Given the description of an element on the screen output the (x, y) to click on. 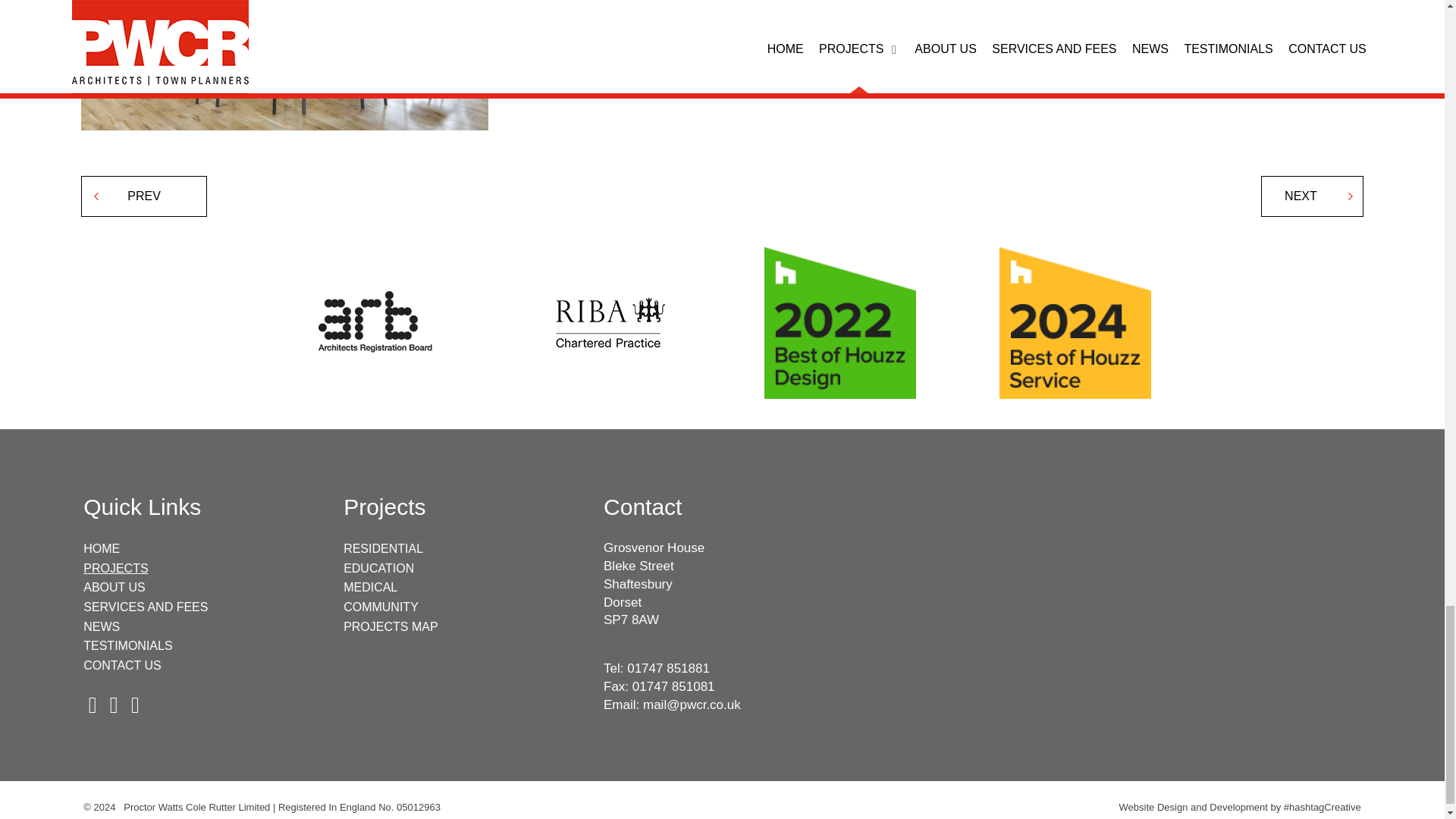
CONTACT US (121, 665)
SERVICES AND FEES (145, 606)
arb (369, 322)
TESTIMONIALS (126, 645)
2024 Service (1074, 322)
HOME (100, 548)
RESIDENTIAL (383, 548)
Houzz Design 2022 (839, 322)
ABOUT US (113, 586)
